Given the description of an element on the screen output the (x, y) to click on. 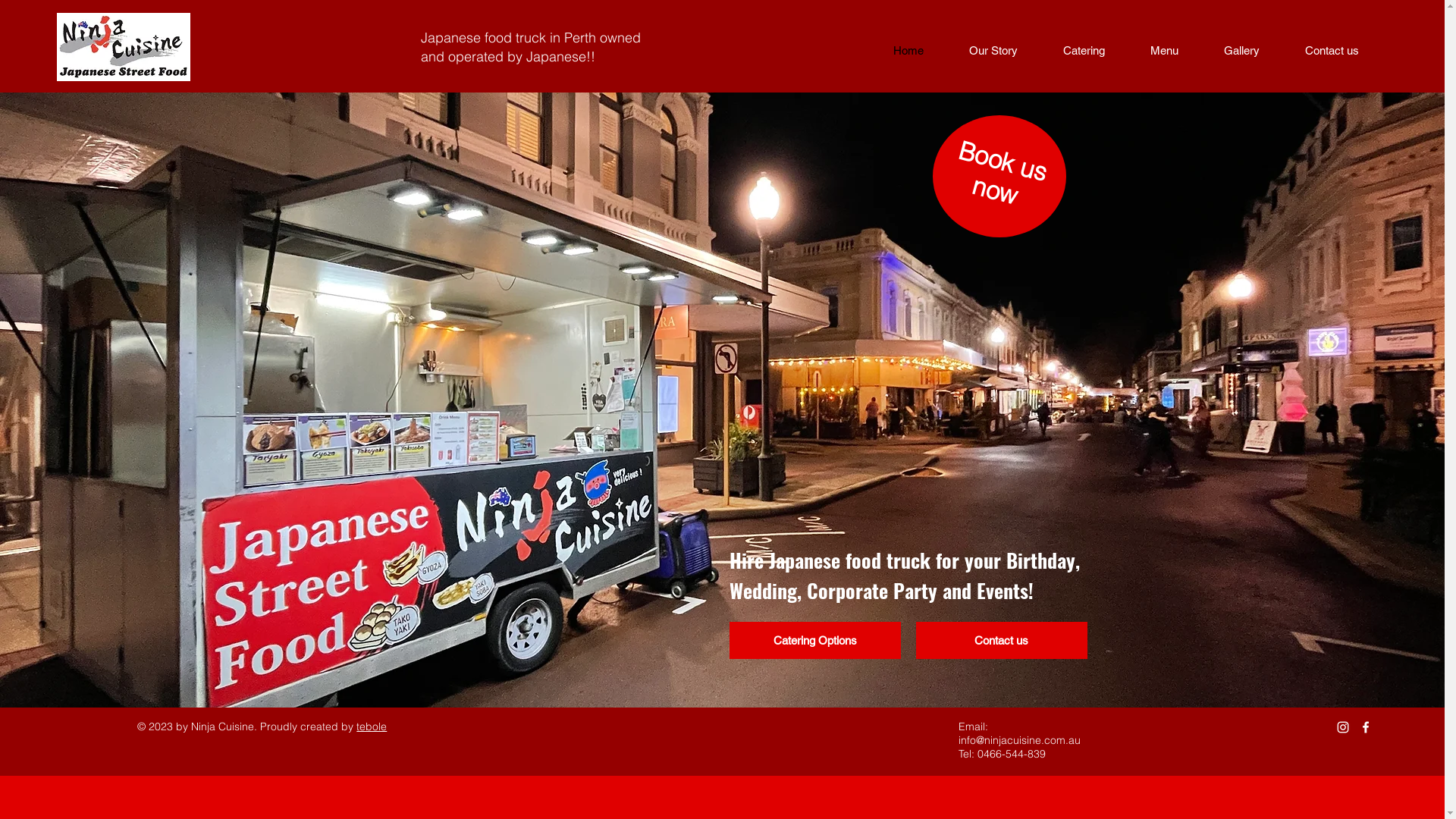
Book us now Element type: text (1000, 164)
Our Story Element type: text (993, 50)
Gallery Element type: text (1241, 50)
Contact us Element type: text (1001, 639)
tebole Element type: text (371, 726)
info@ninjacuisine.com.au Element type: text (1019, 739)
Menu Element type: text (1164, 50)
Catering Element type: text (1083, 50)
Catering Options Element type: text (814, 639)
Contact us Element type: text (1331, 50)
Home Element type: text (908, 50)
